Given the description of an element on the screen output the (x, y) to click on. 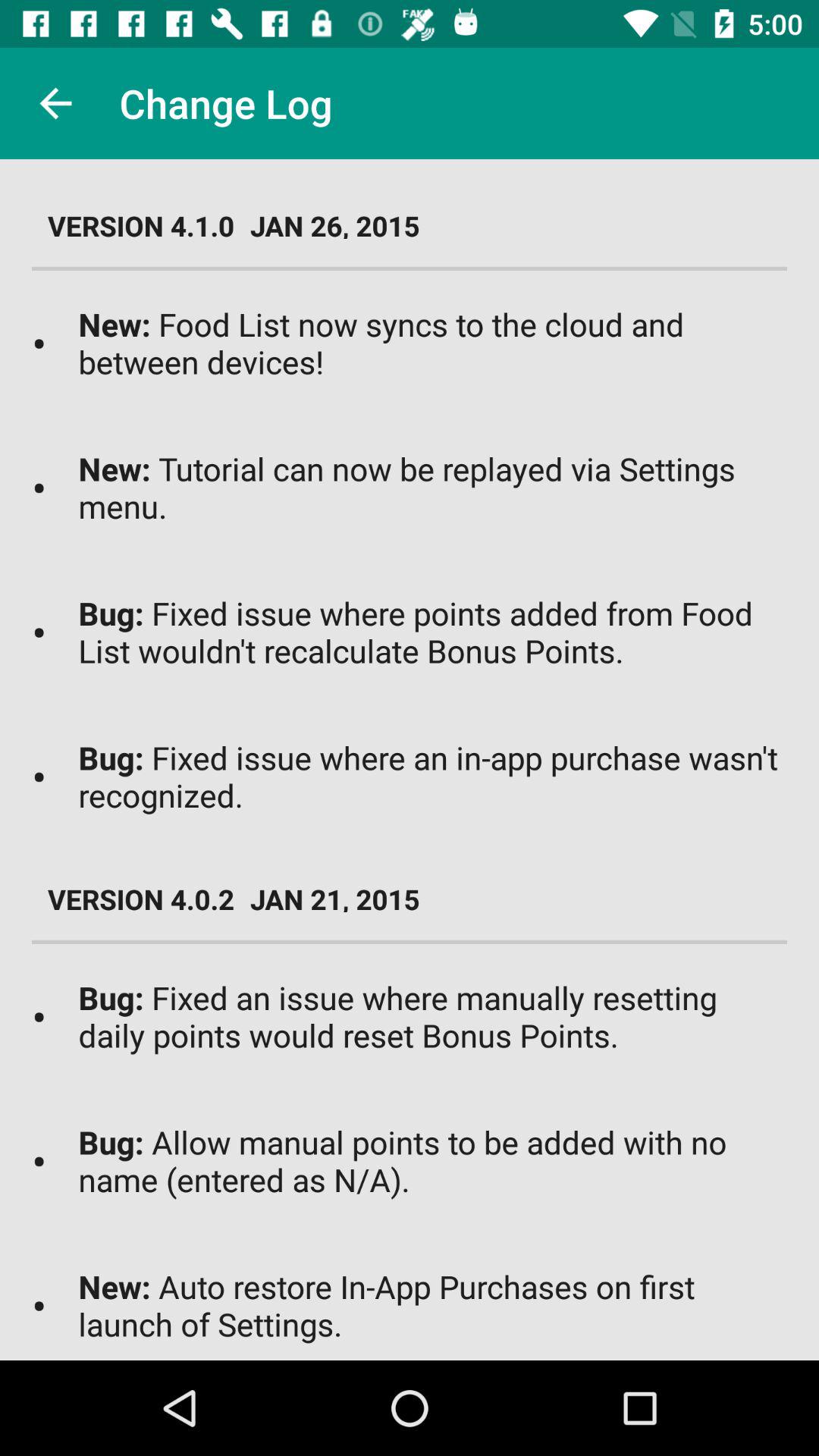
open the icon to the left of change log (55, 103)
